Given the description of an element on the screen output the (x, y) to click on. 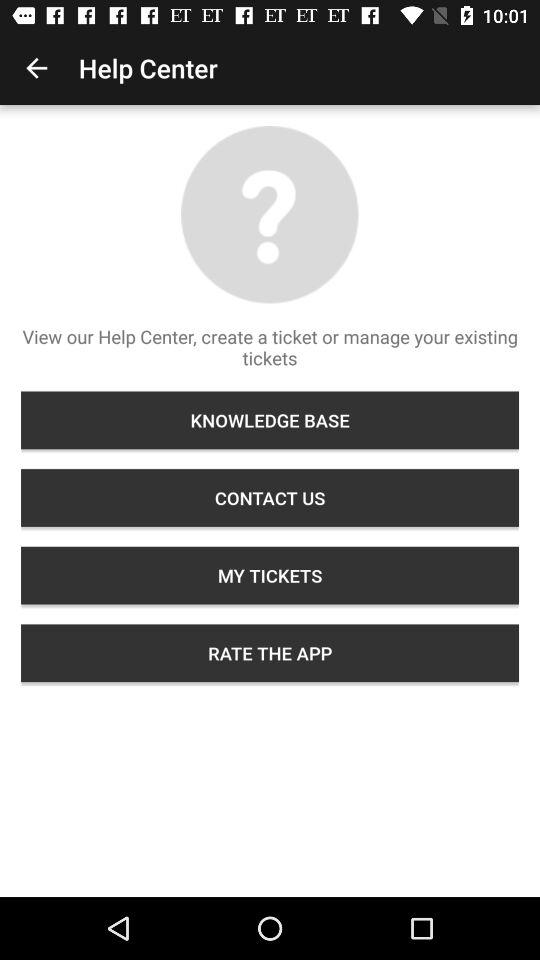
scroll until the contact us (270, 497)
